Given the description of an element on the screen output the (x, y) to click on. 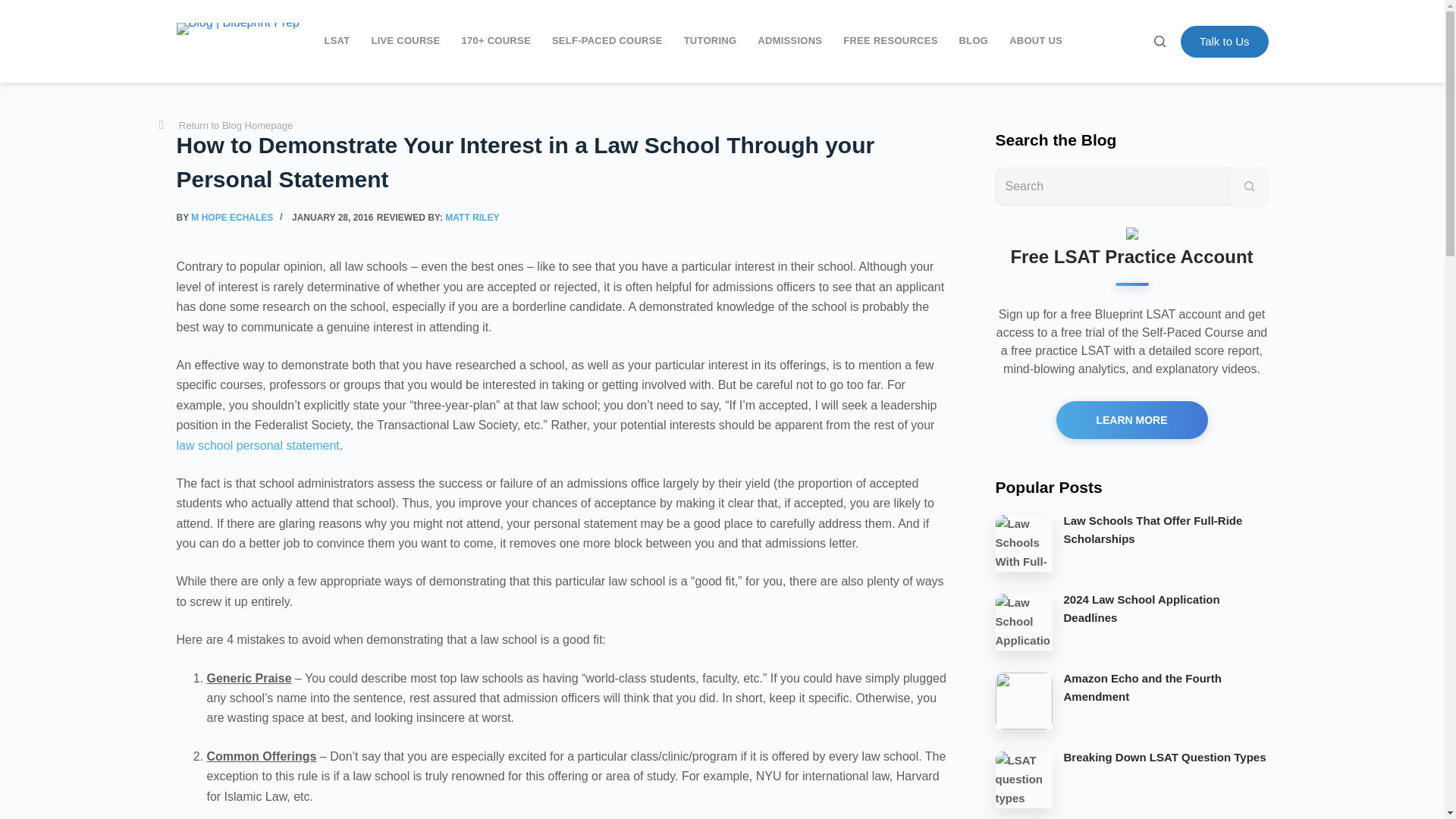
Skip to content (15, 7)
SELF-PACED COURSE (606, 41)
ADMISSIONS (789, 41)
LIVE COURSE (405, 41)
law school personal statement (257, 445)
FREE RESOURCES (890, 41)
M HOPE ECHALES (231, 217)
Posts by M Hope Echales (231, 217)
Talk to Us (1224, 41)
Return to Blog Homepage (225, 125)
